Given the description of an element on the screen output the (x, y) to click on. 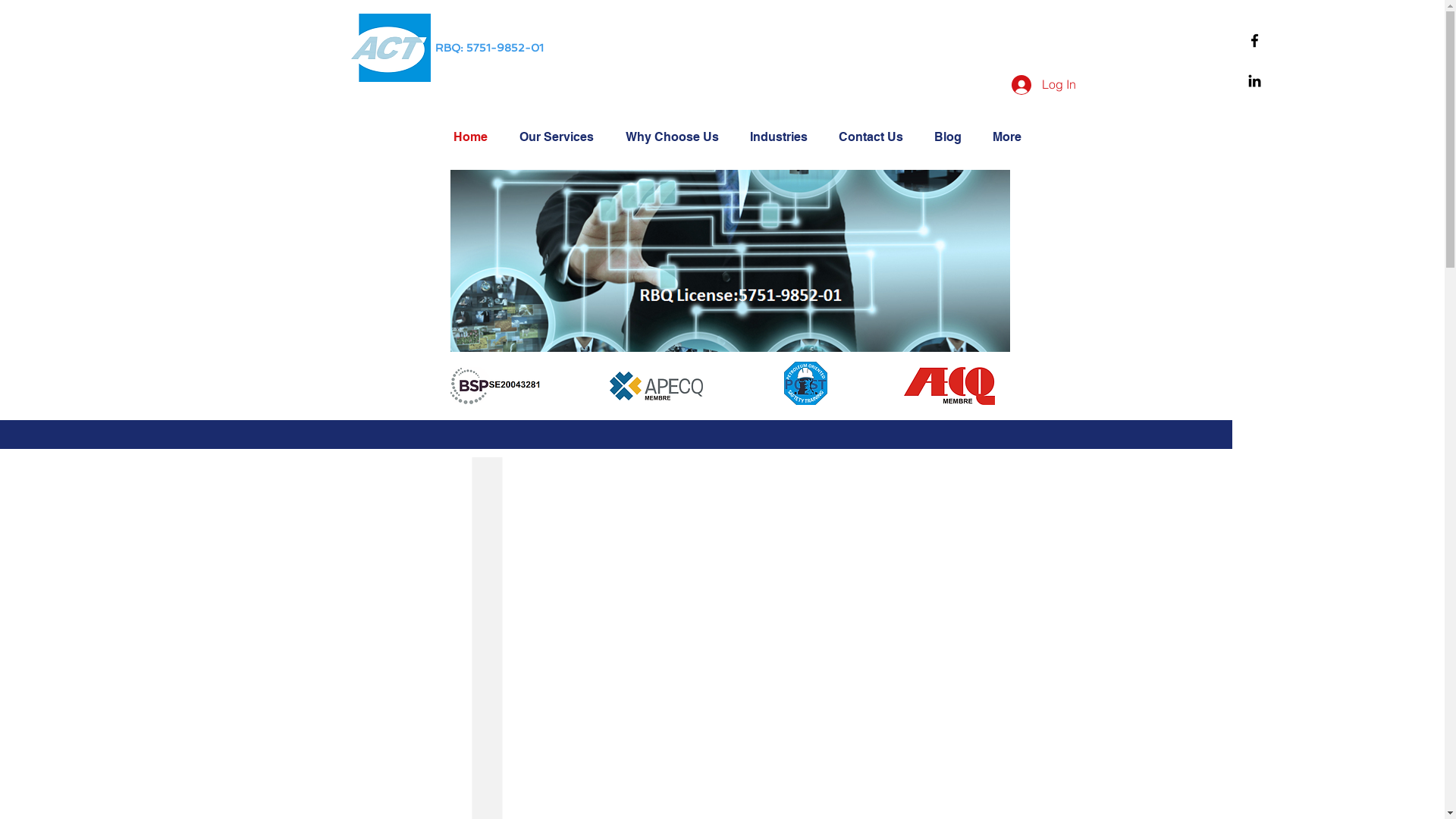
Blog Element type: text (951, 137)
Home Element type: text (474, 137)
Contact Us Element type: text (874, 137)
Log In Element type: text (1043, 83)
Industries Element type: text (782, 137)
Why Choose Us Element type: text (676, 137)
Our Services Element type: text (561, 137)
